Given the description of an element on the screen output the (x, y) to click on. 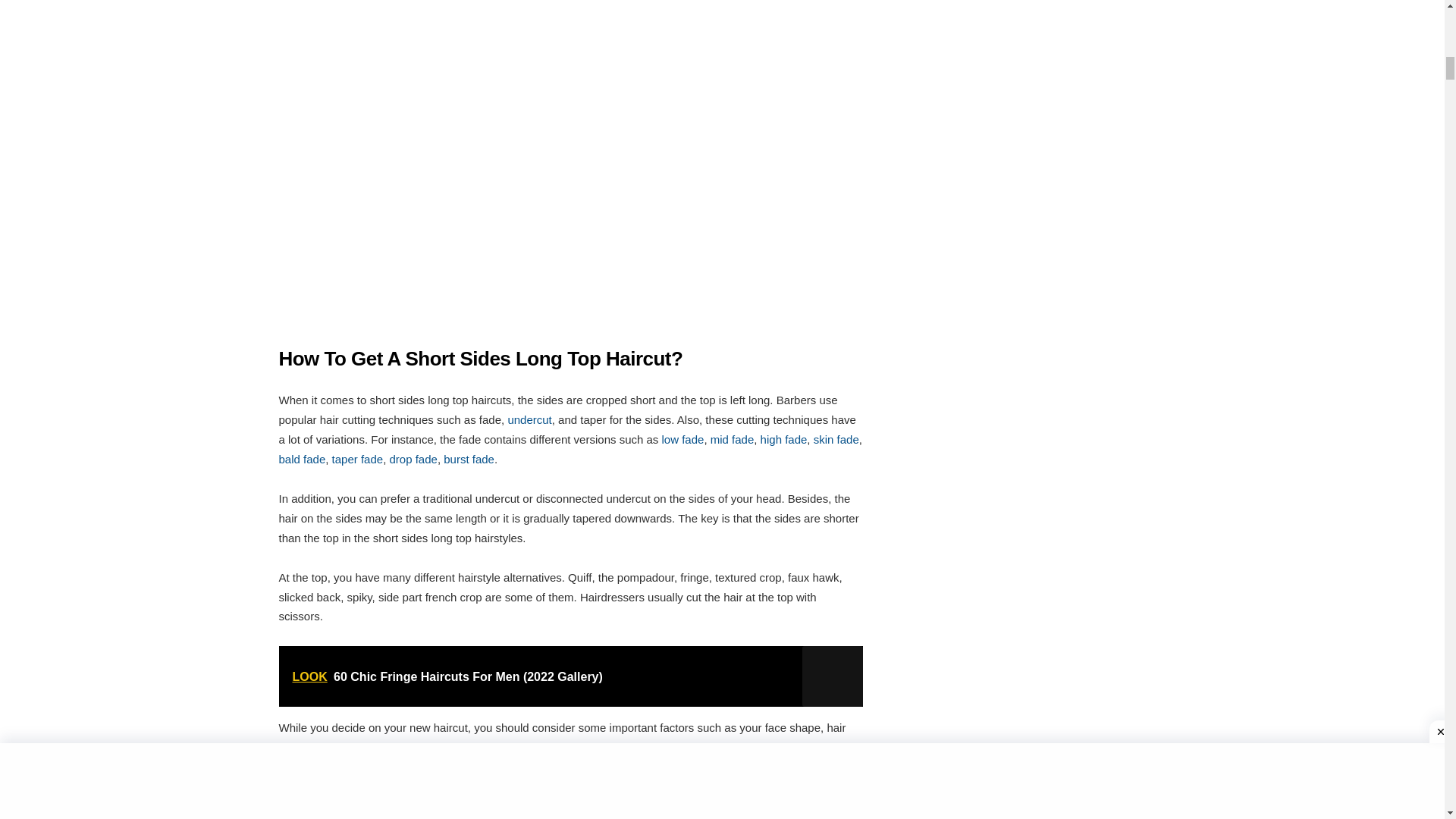
taper fade (357, 459)
skin fade (836, 439)
high fade (784, 439)
drop fade (412, 459)
low fade (682, 439)
bald fade (302, 459)
undercut (528, 419)
burst fade (469, 459)
mid fade (732, 439)
